Given the description of an element on the screen output the (x, y) to click on. 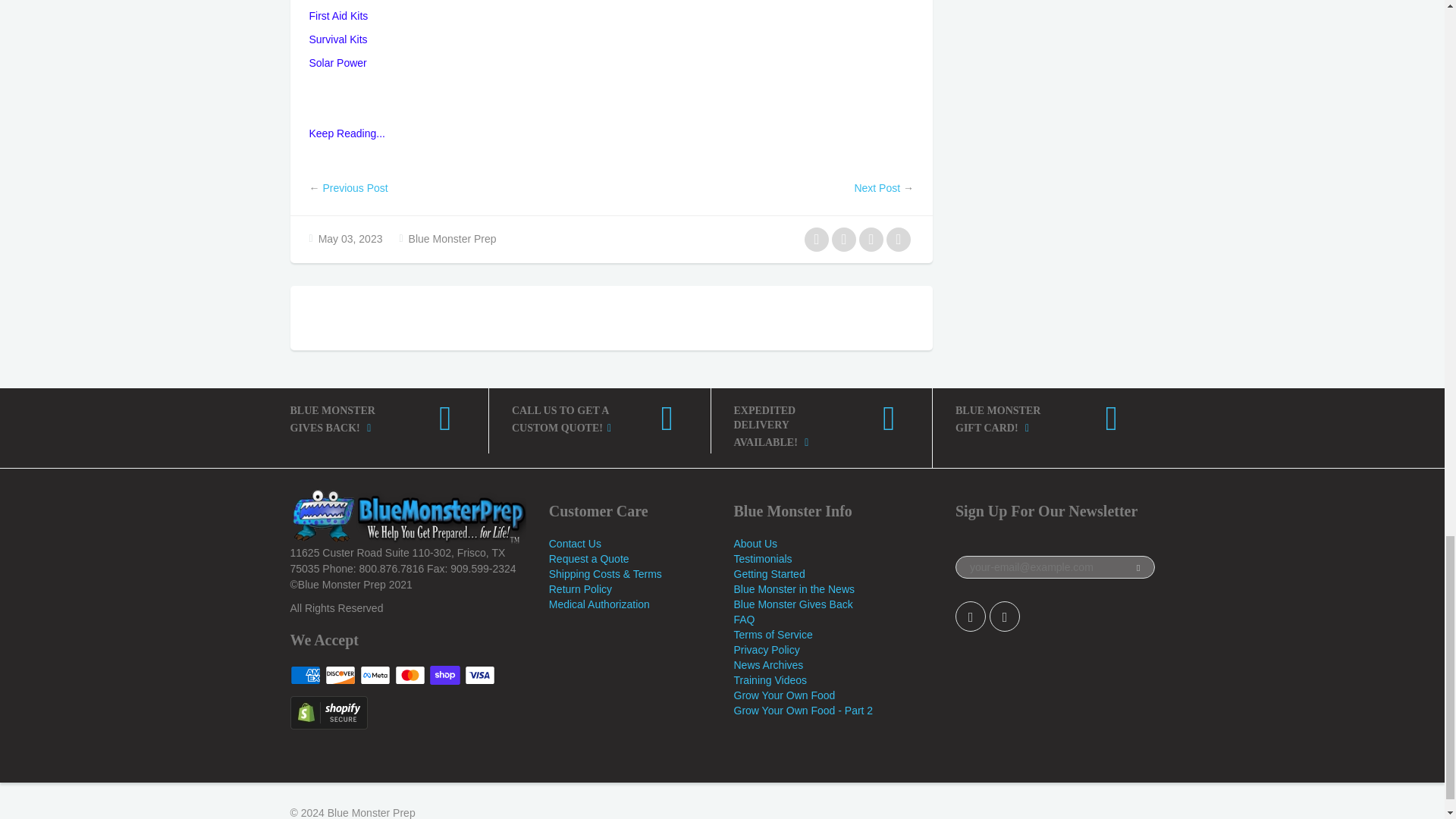
Facebook (970, 616)
Keep Reading... (346, 133)
This online store is secured by Shopify (327, 711)
Pinterest (1005, 616)
